Given the description of an element on the screen output the (x, y) to click on. 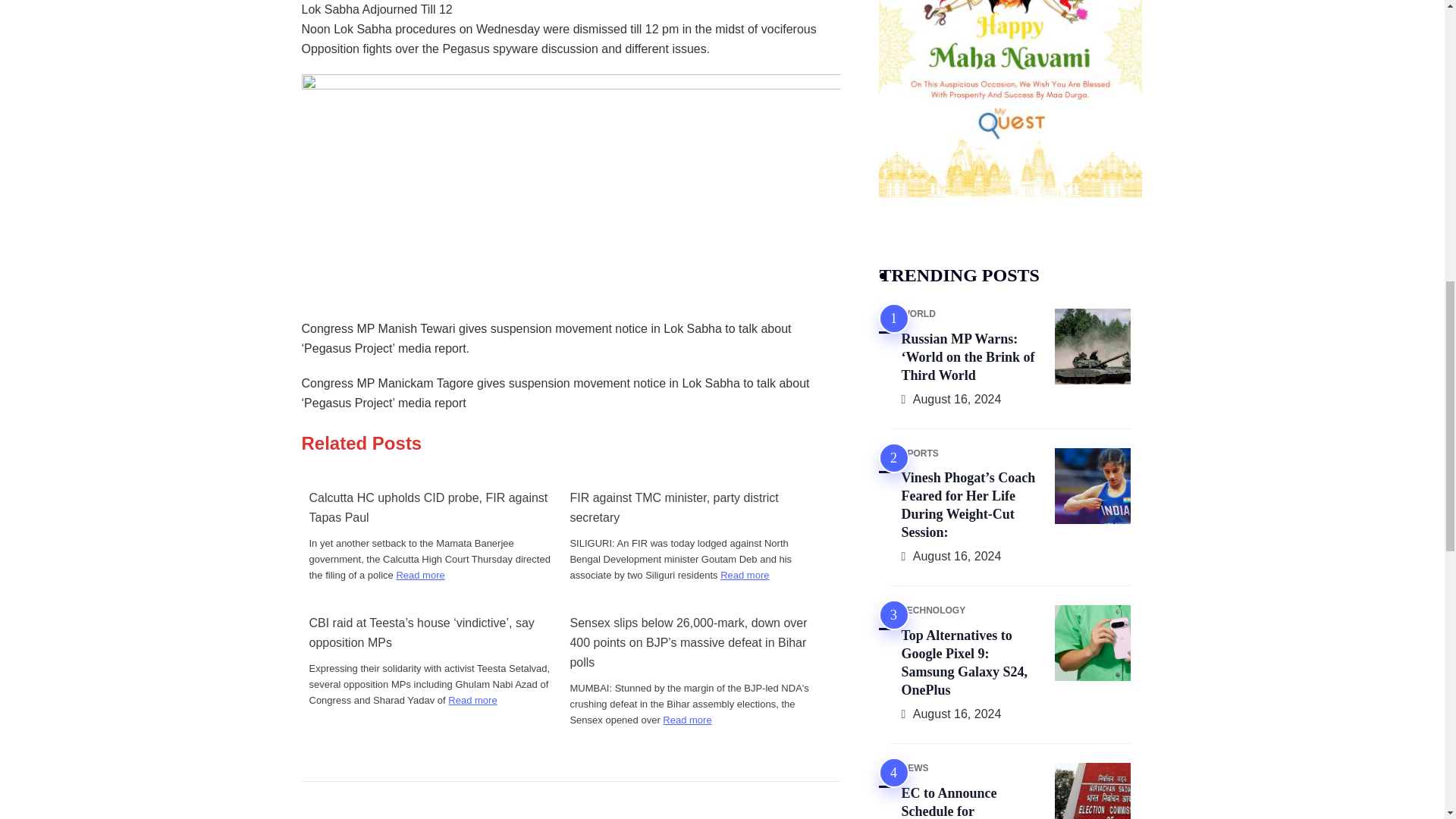
Read more (472, 700)
Calcutta HC upholds CID probe, FIR against Tapas Paul (429, 507)
Calcutta HC upholds CID probe, FIR against Tapas Paul (429, 507)
Read more (420, 575)
Read more (744, 575)
FIR against TMC minister, party district secretary (690, 507)
Read more (686, 719)
FIR against TMC minister, party district secretary (690, 507)
